Given the description of an element on the screen output the (x, y) to click on. 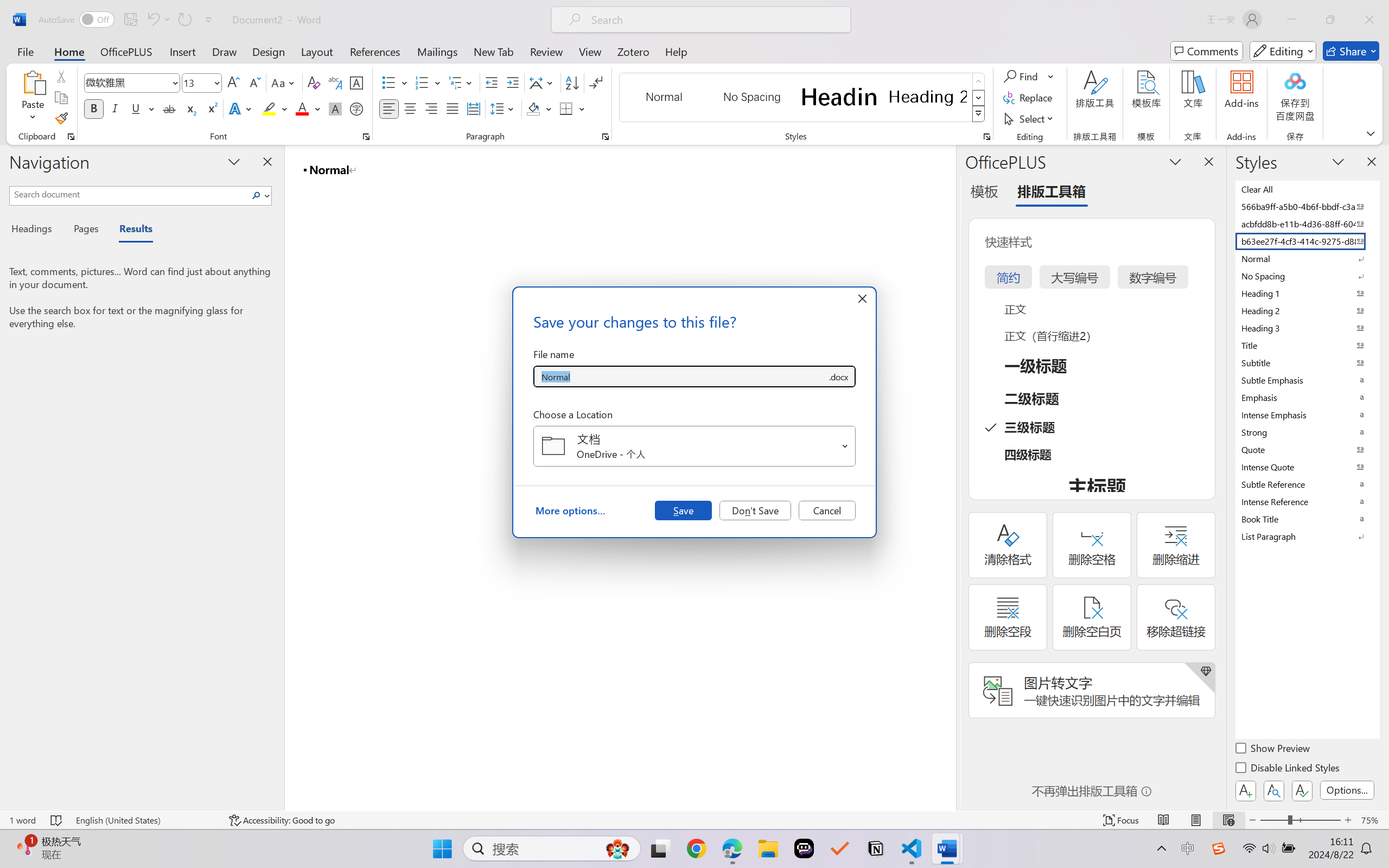
Intense Quote (1306, 466)
Help (675, 51)
Subtitle (1306, 362)
Save as type (837, 376)
Font... (365, 136)
Align Left (388, 108)
Clear Formatting (313, 82)
